Given the description of an element on the screen output the (x, y) to click on. 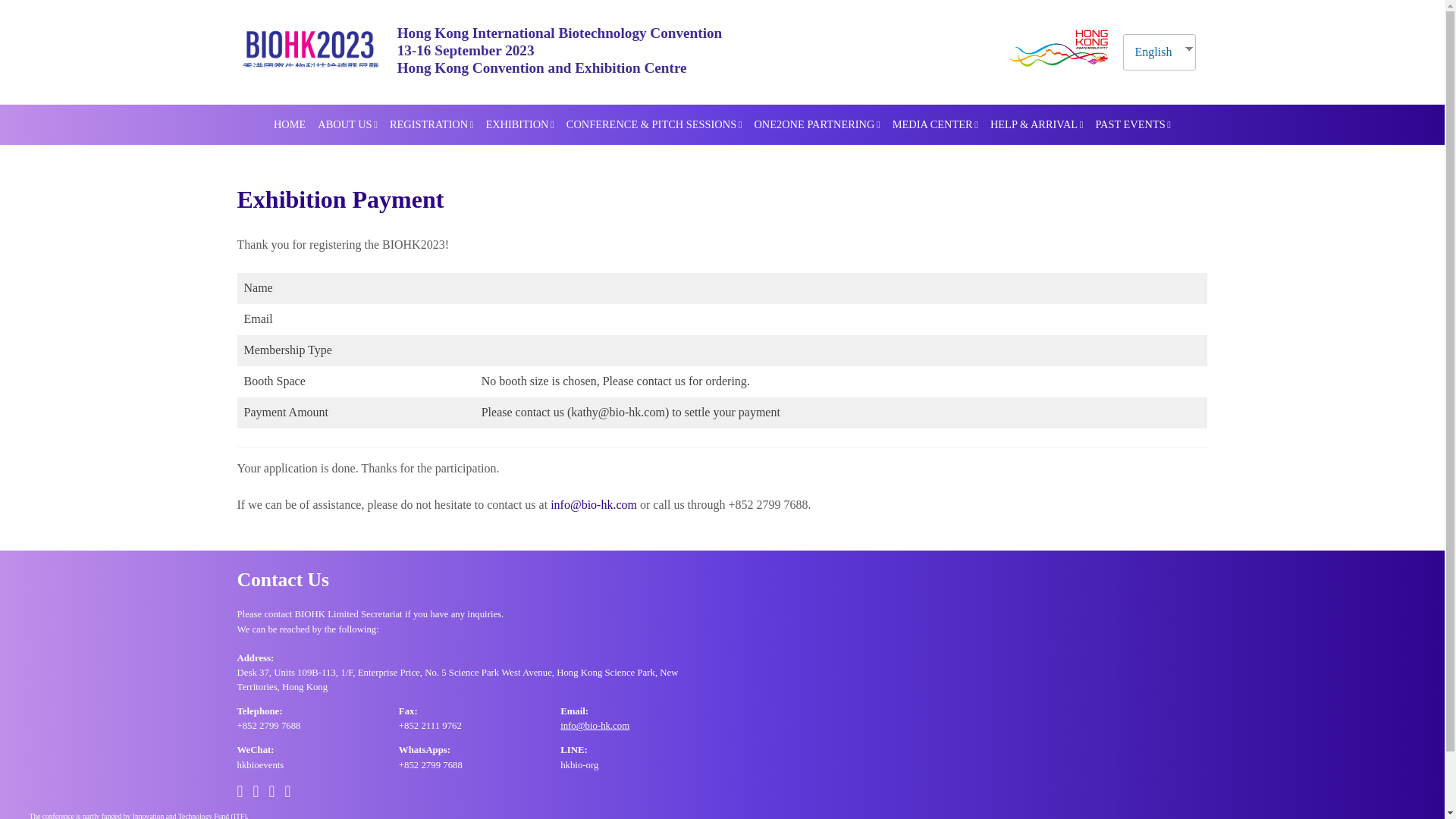
ABOUT US (347, 124)
HOME (289, 124)
MEDIA CENTER (935, 124)
ONE2ONE PARTNERING (816, 124)
English (1152, 51)
REGISTRATION (431, 124)
EXHIBITION (519, 124)
English (1152, 51)
